Given the description of an element on the screen output the (x, y) to click on. 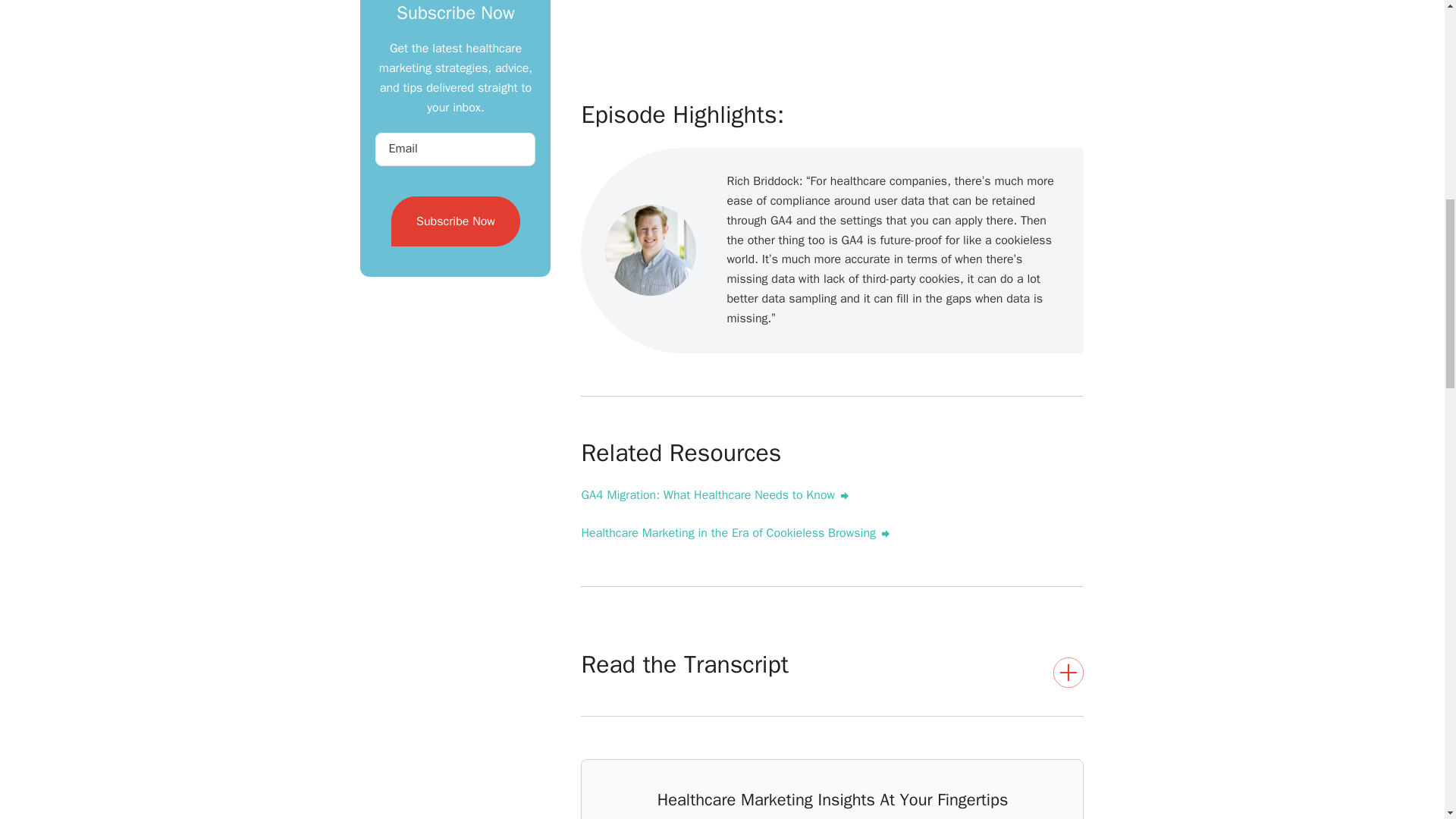
Subscribe Now (455, 221)
Healthcare Marketing in the Era of Cookieless Browsing (734, 533)
GA4 Migration: What Healthcare Needs to Know (714, 495)
